Given the description of an element on the screen output the (x, y) to click on. 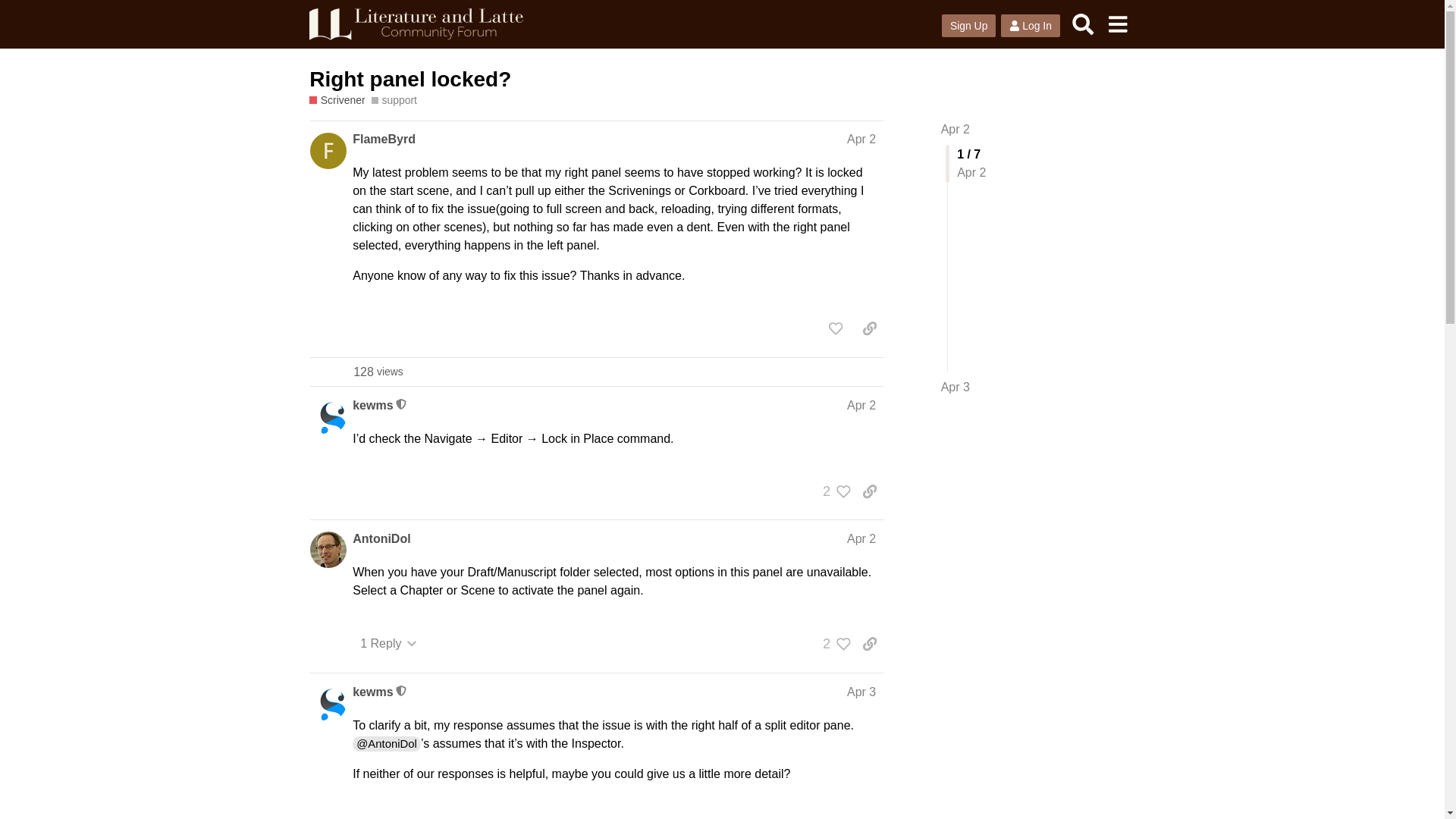
kewms (372, 405)
Right panel locked? (409, 78)
2 people liked this post (832, 491)
Apr 3 (861, 691)
like this post (835, 328)
Apr 3 (954, 387)
Log In (1030, 25)
1 Reply (387, 643)
menu (1117, 23)
Ask for help, report bugs, or give feedback for Scrivener. (336, 100)
